Given the description of an element on the screen output the (x, y) to click on. 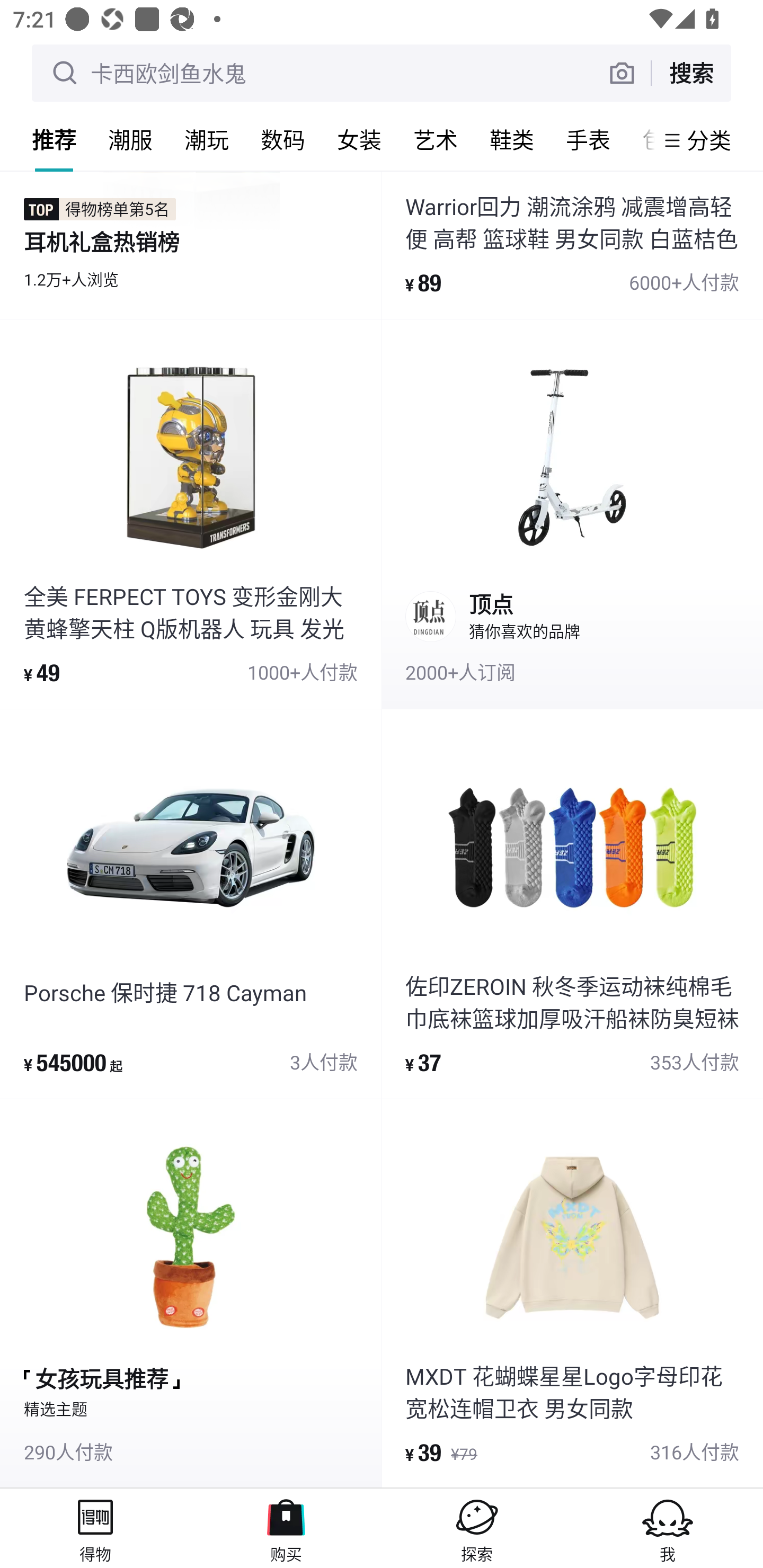
搜索 (690, 72)
推荐 (54, 139)
潮服 (130, 139)
潮玩 (206, 139)
数码 (282, 139)
女装 (359, 139)
艺术 (435, 139)
鞋类 (511, 139)
手表 (588, 139)
分类 (708, 139)
得物榜单第5名 耳机礼盒热销榜 1.2万+人浏览 (190, 244)
顶点 猜你喜欢的品牌 2000+人订阅 (572, 513)
女孩玩具推荐 精选主题 290人付款 (190, 1293)
得物 (95, 1528)
购买 (285, 1528)
探索 (476, 1528)
我 (667, 1528)
